Given the description of an element on the screen output the (x, y) to click on. 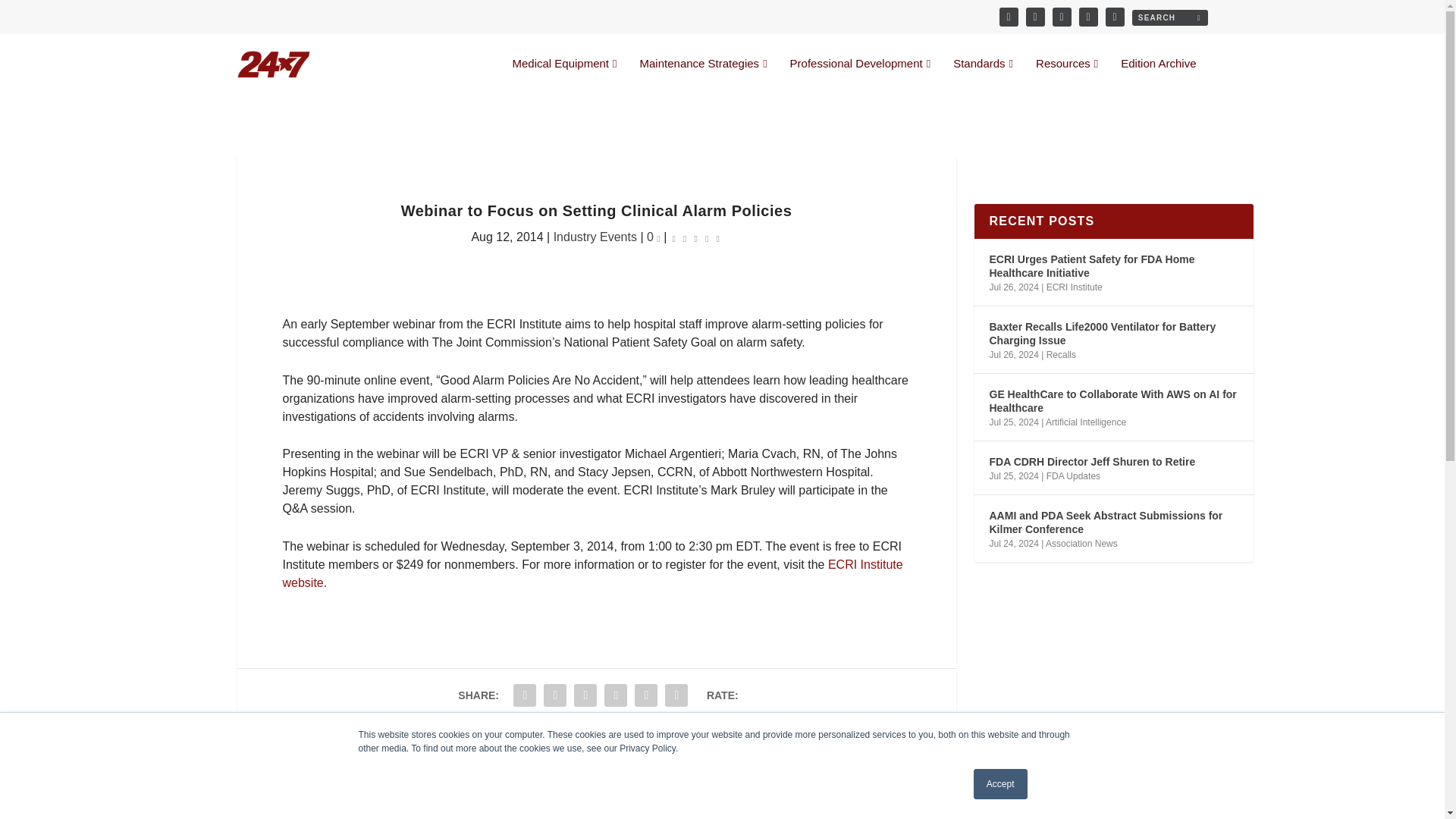
Edition Archive (1158, 76)
ECRI Institute website (592, 572)
Maintenance Strategies (703, 76)
Standards (983, 76)
Professional Development (860, 76)
Resources (1066, 76)
Accept (1000, 784)
Rating: 0.00 (695, 237)
Webinar registration page (592, 572)
Medical Equipment (563, 76)
Search for: (1169, 17)
